Given the description of an element on the screen output the (x, y) to click on. 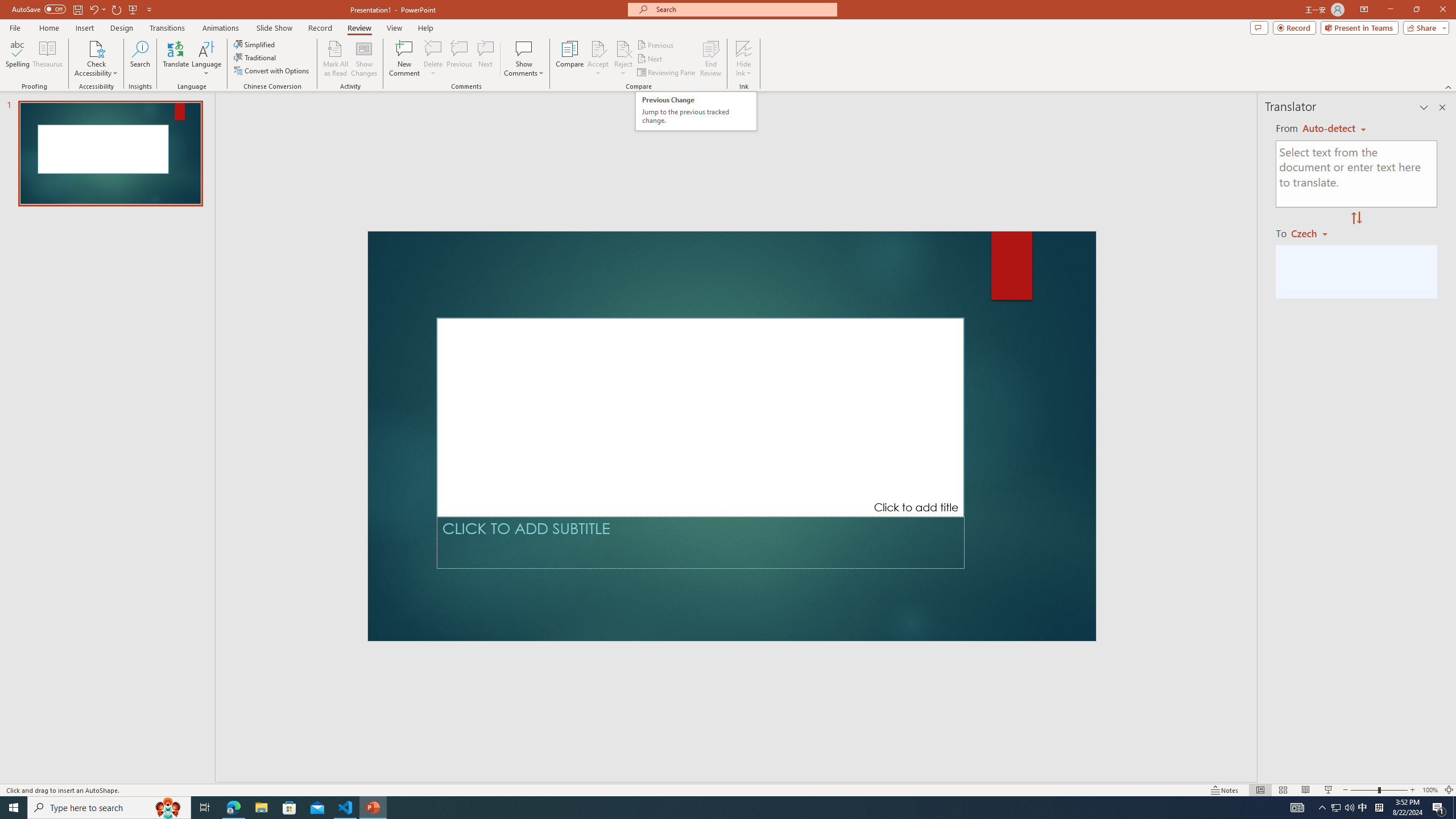
New Comment (403, 58)
Translate (175, 58)
